Given the description of an element on the screen output the (x, y) to click on. 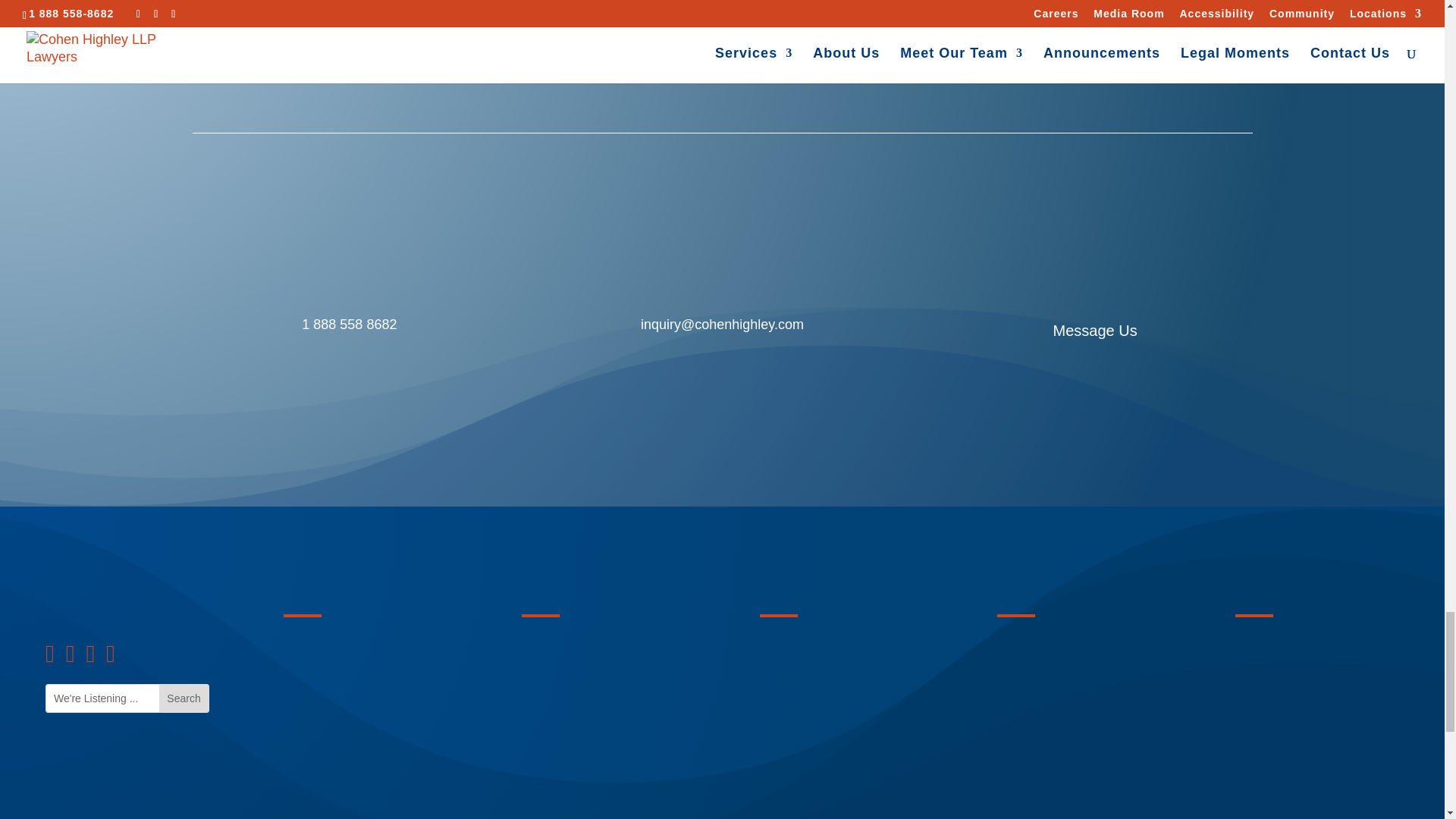
Search (183, 697)
Search (183, 697)
